Given the description of an element on the screen output the (x, y) to click on. 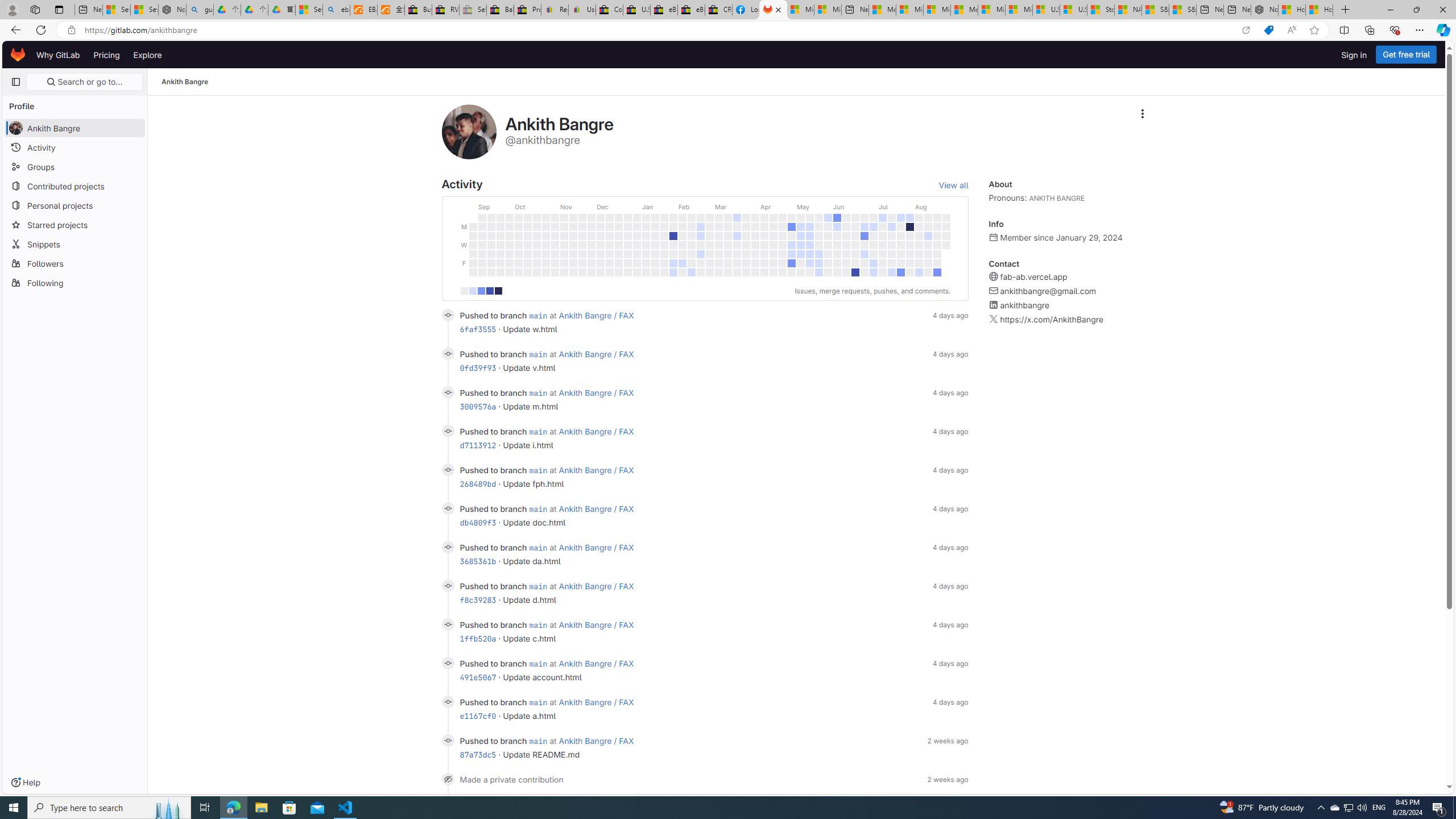
Pricing (106, 54)
Ankith Bangre / FAX (596, 740)
App bar (728, 29)
10-19 contributions (480, 290)
